Given the description of an element on the screen output the (x, y) to click on. 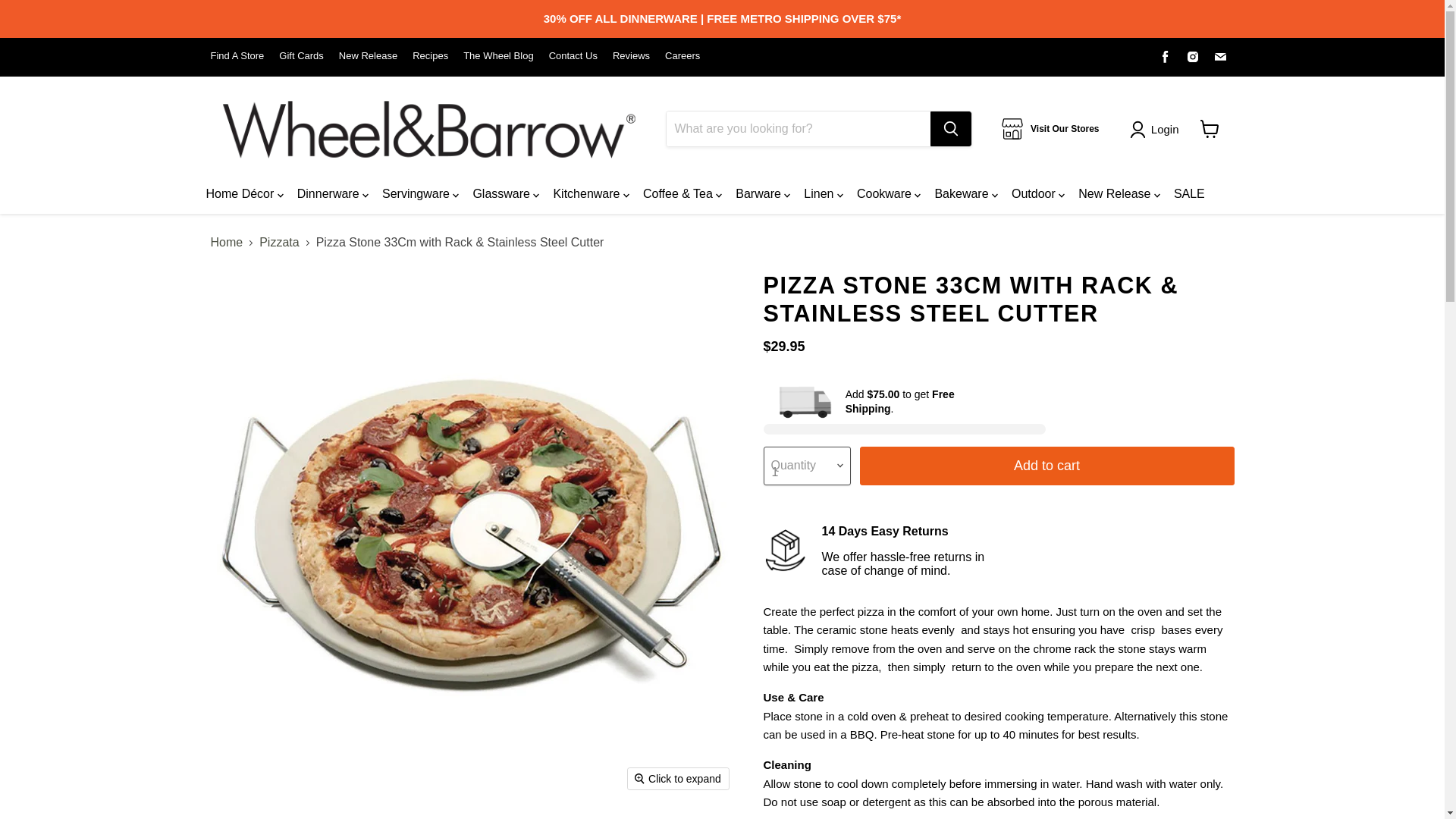
Instagram (1193, 55)
Contact Us (572, 56)
The Wheel Blog (498, 56)
Gift Cards (301, 56)
Find us on Facebook (1165, 55)
Facebook (1165, 55)
Find us on Email (1219, 55)
Email (1219, 55)
New Release (368, 56)
Find A Store (237, 56)
